Given the description of an element on the screen output the (x, y) to click on. 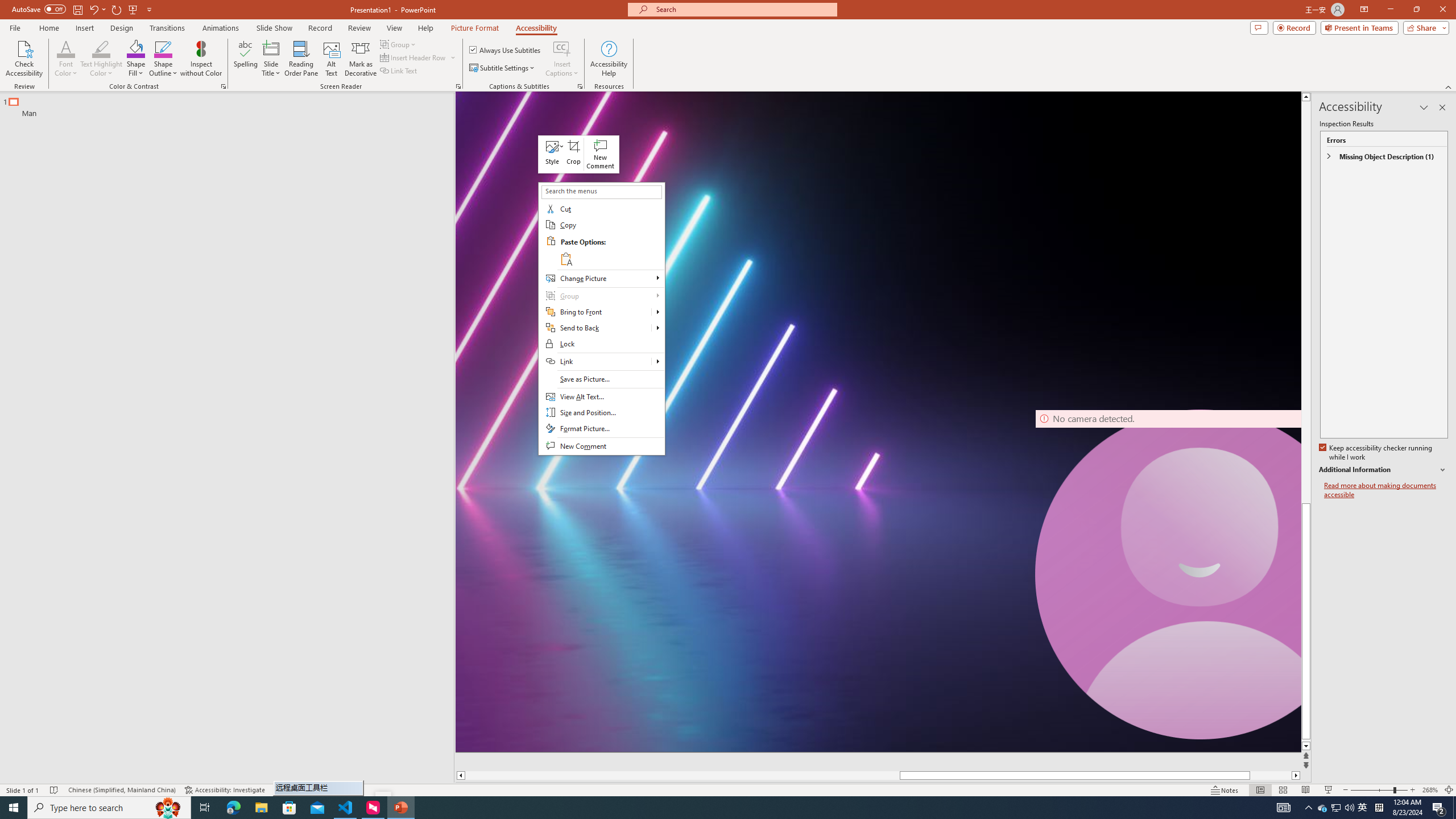
Send to Back (594, 327)
Screen Reader (458, 85)
View Alt Text... (600, 396)
Paste Options (610, 250)
